Given the description of an element on the screen output the (x, y) to click on. 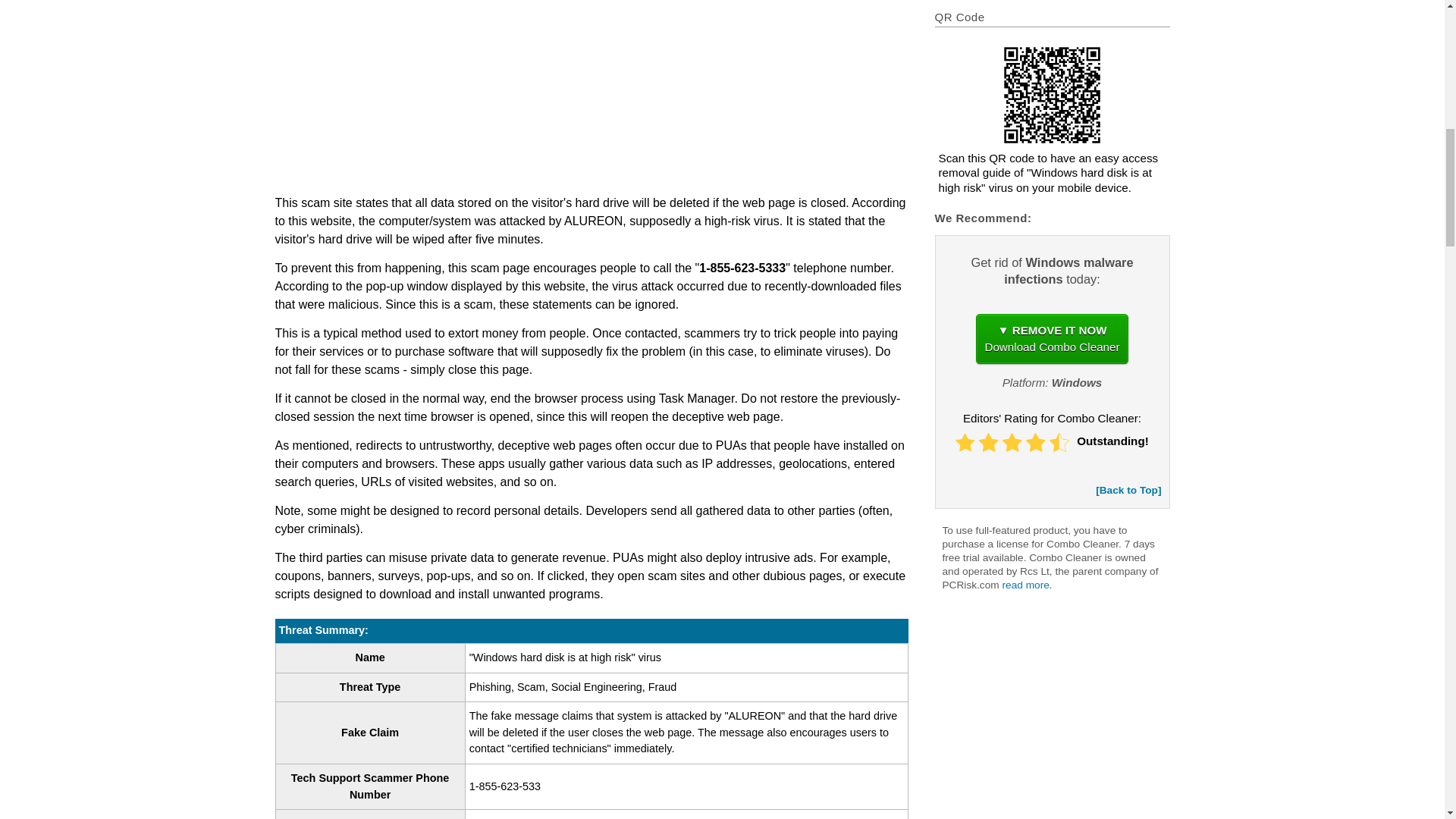
Windows hard disk is at high risk virus (1051, 94)
Read more about us (1026, 584)
